Given the description of an element on the screen output the (x, y) to click on. 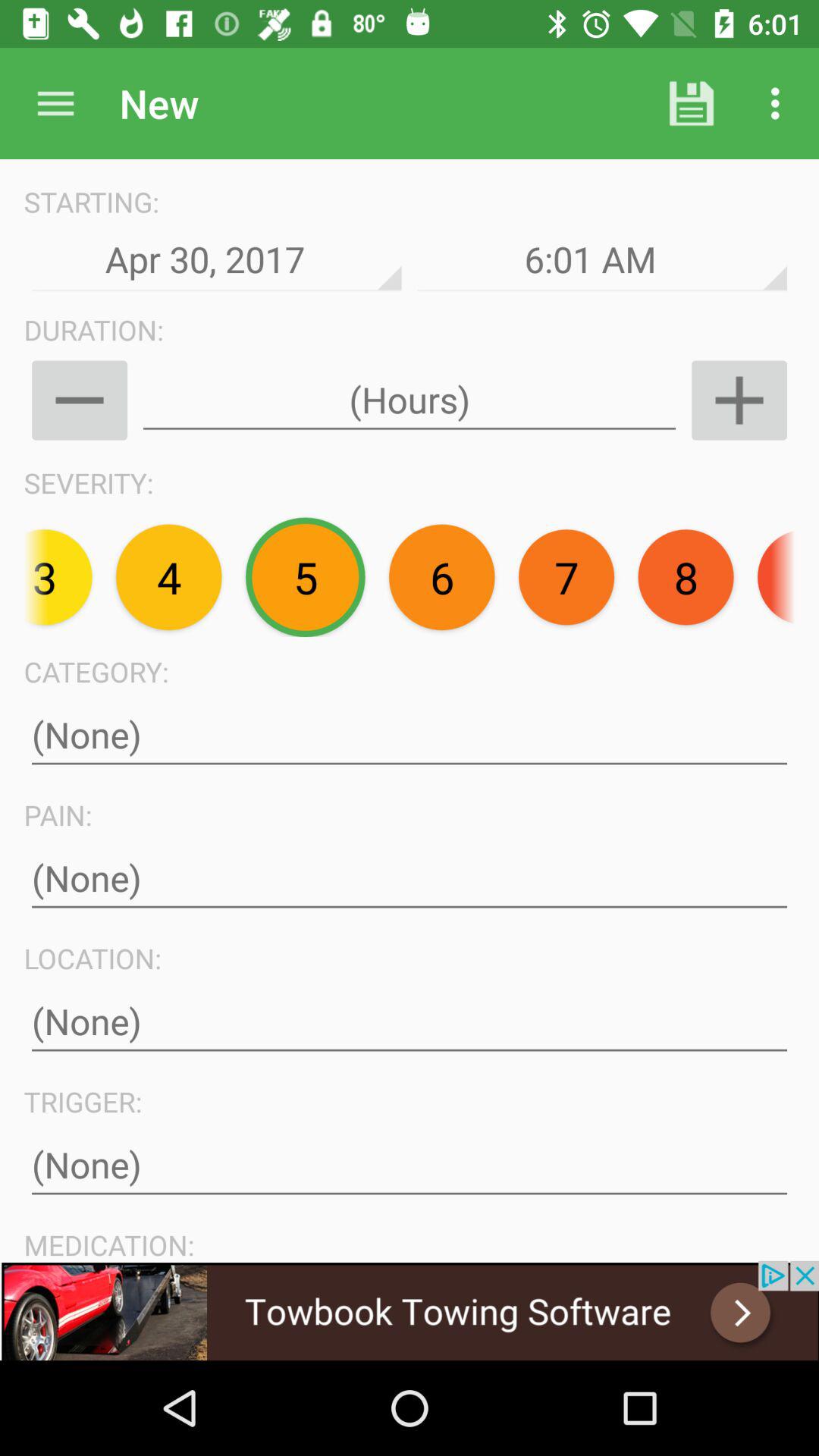
enter text (409, 735)
